Given the description of an element on the screen output the (x, y) to click on. 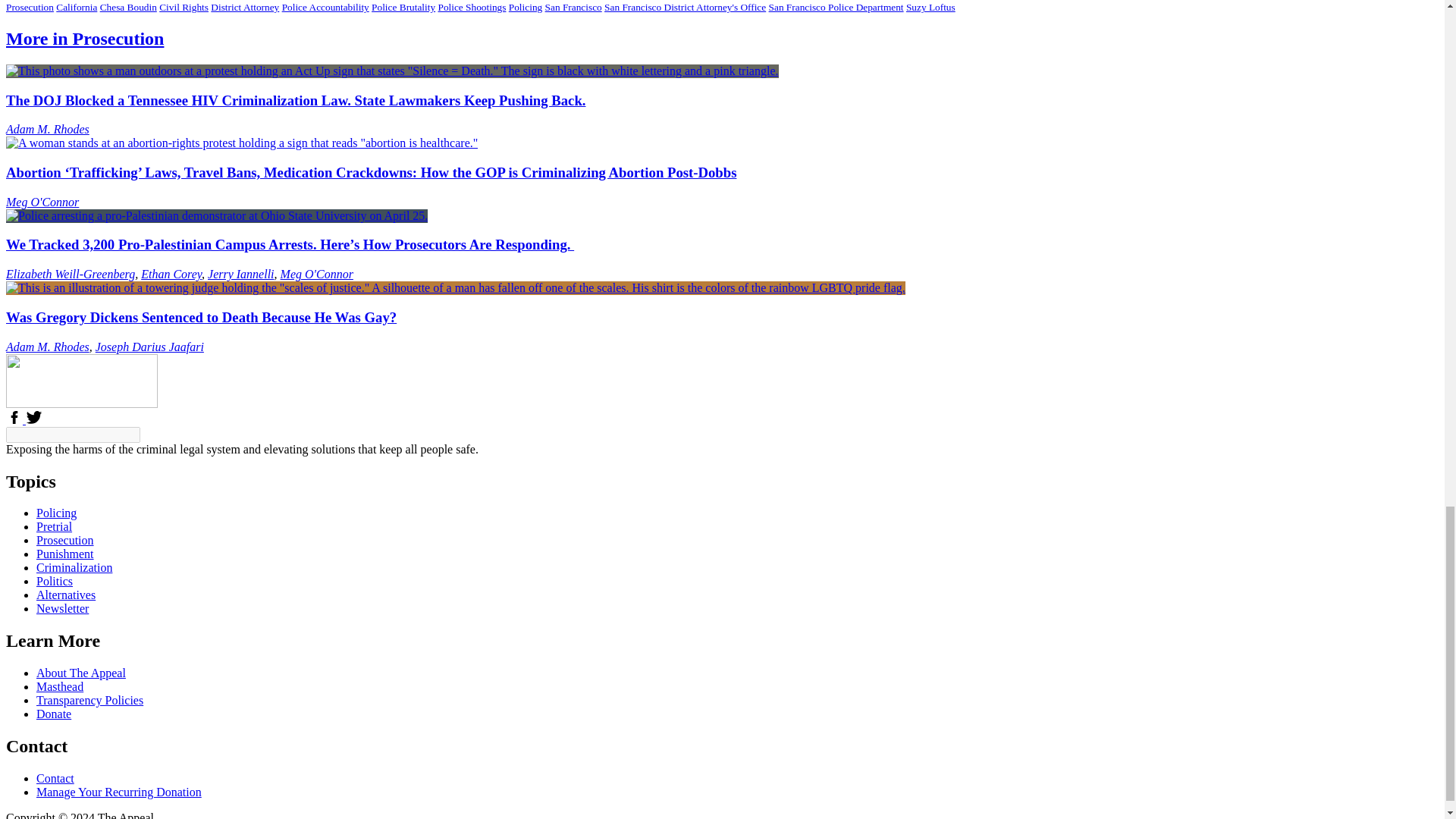
Pretrial (53, 526)
Policing (56, 512)
Prosecution (65, 540)
